Given the description of an element on the screen output the (x, y) to click on. 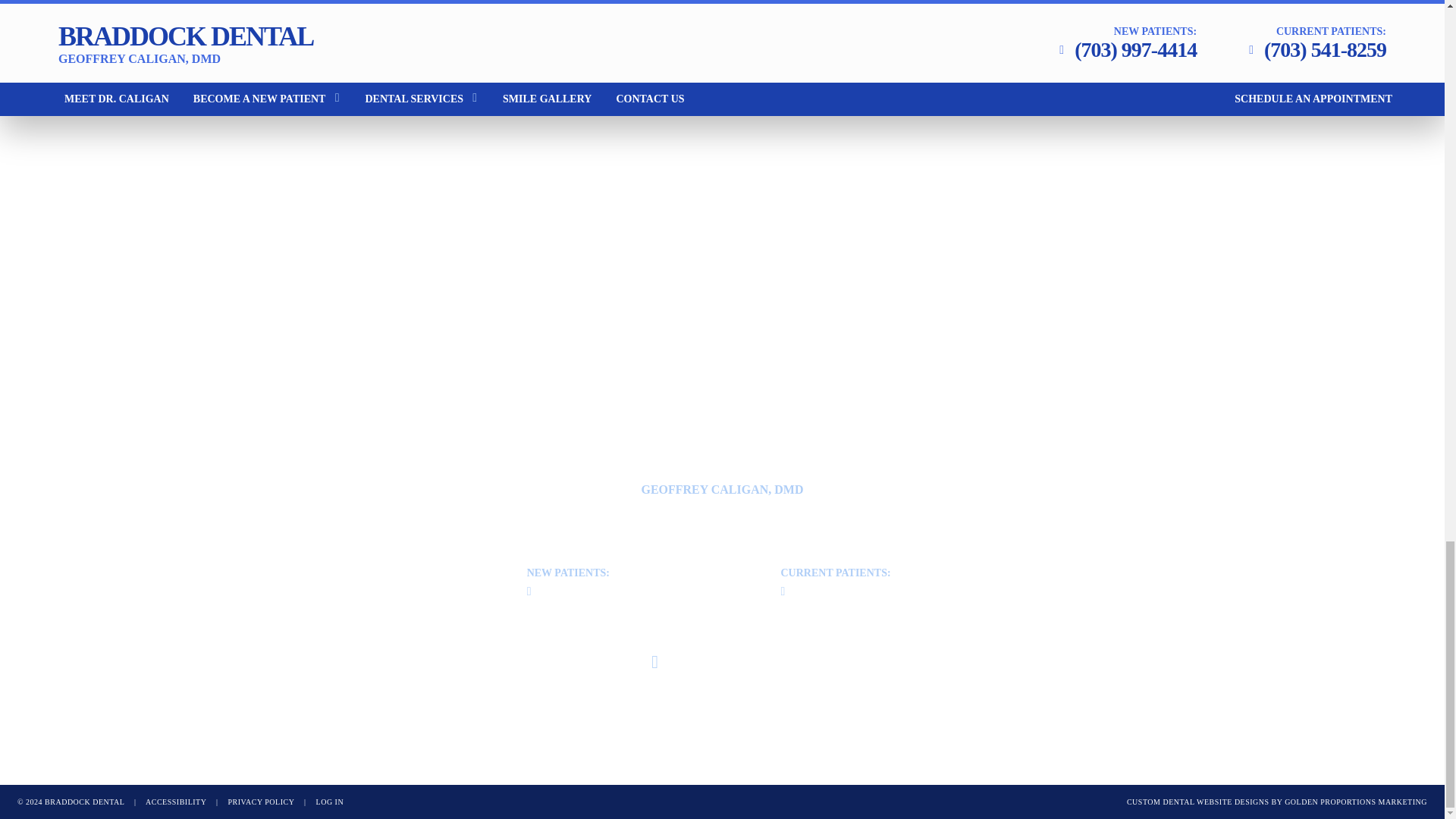
ACCESSIBILITY (721, 487)
Braddock Dental (175, 801)
SCHEDULE AN APPOINTMENT (732, 662)
